Given the description of an element on the screen output the (x, y) to click on. 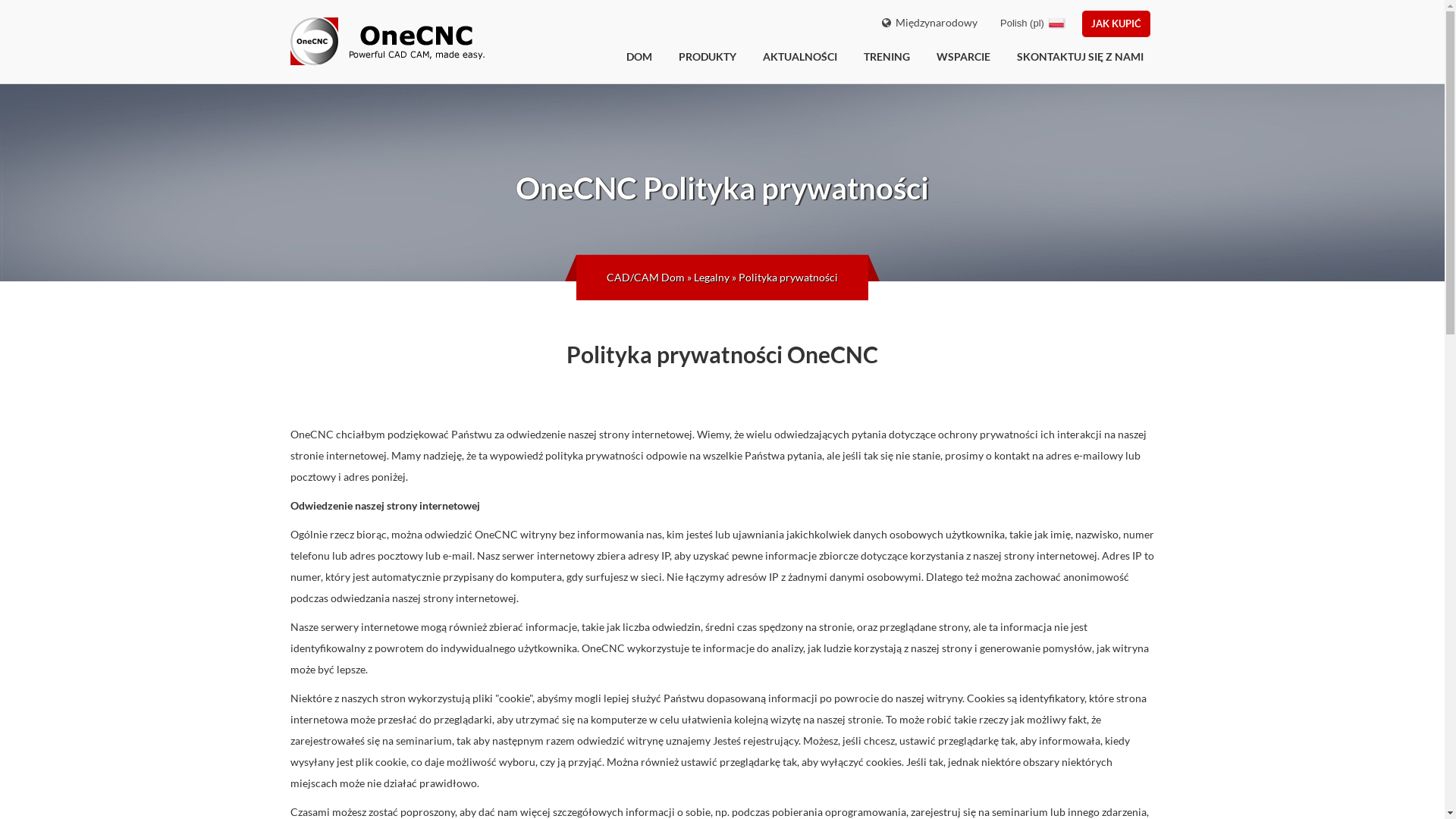
Legalny Element type: text (711, 277)
TRENING Element type: text (886, 56)
WSPARCIE Element type: text (963, 56)
PRODUKTY Element type: text (707, 56)
CAD/CAM Dom Element type: text (645, 277)
DOM Element type: text (638, 56)
Polish (pl) Element type: text (1033, 23)
